Given the description of an element on the screen output the (x, y) to click on. 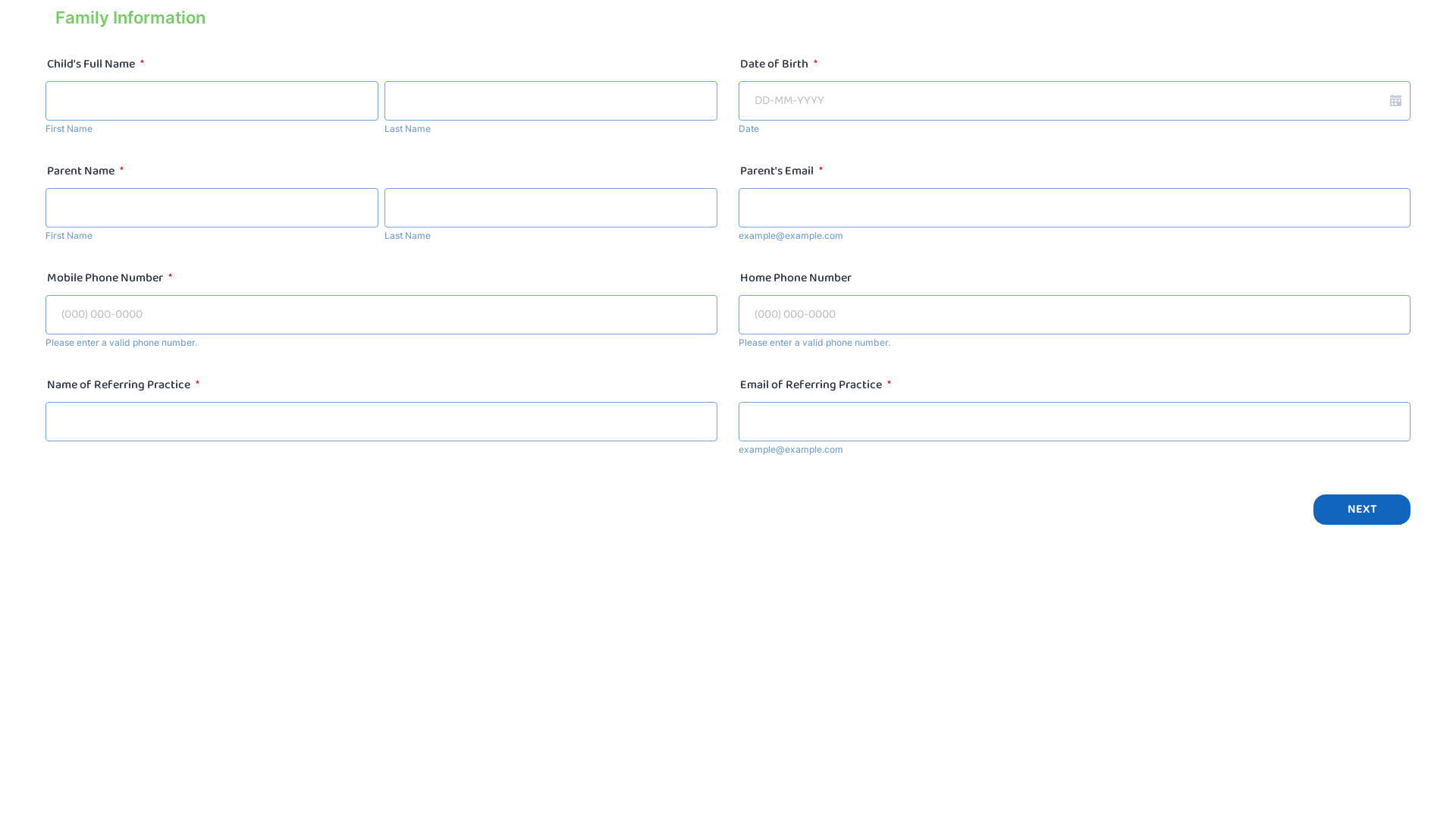
NEXT Element type: text (1361, 509)
